Given the description of an element on the screen output the (x, y) to click on. 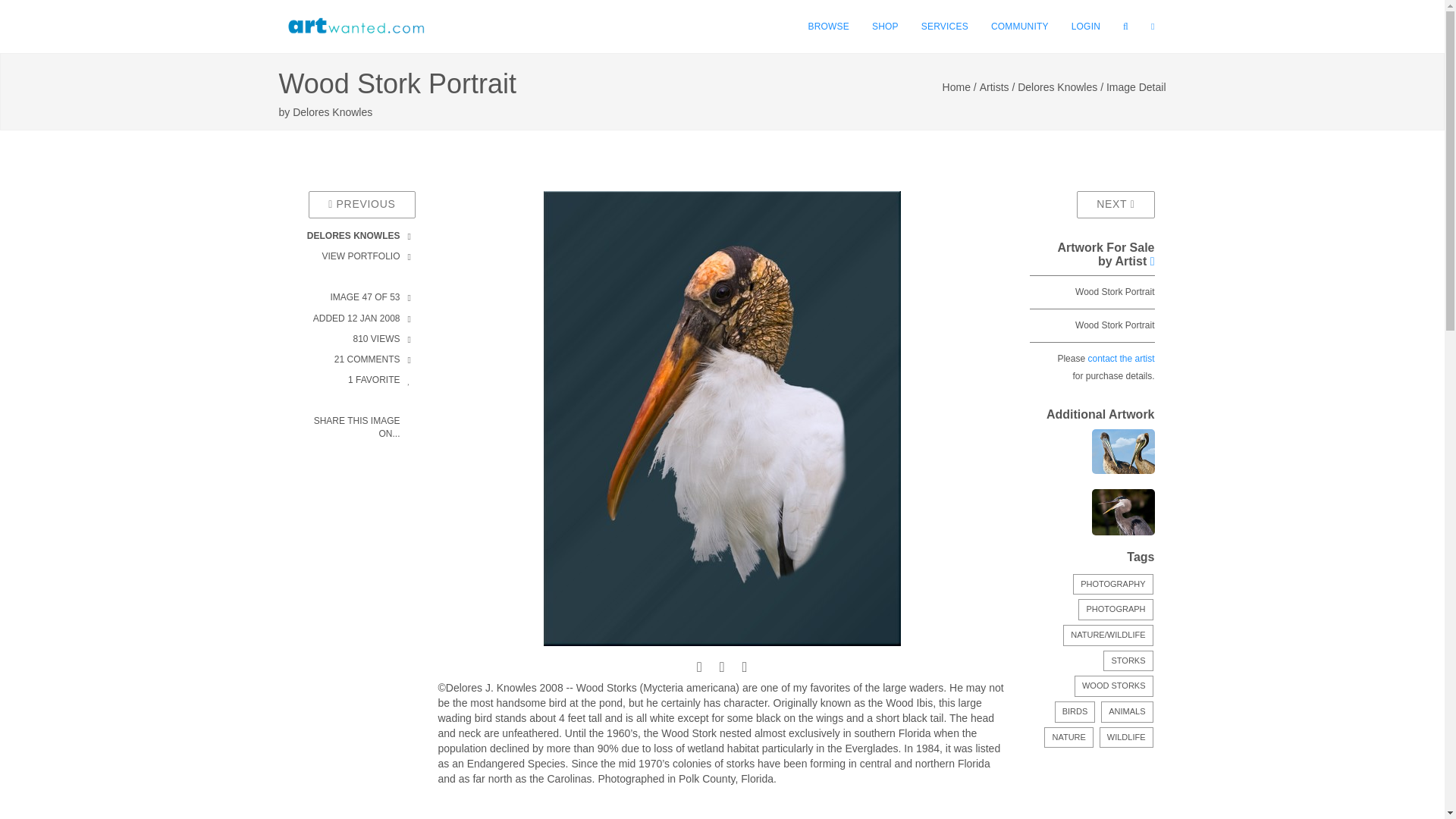
BROWSE (828, 26)
COMMUNITY (1019, 26)
SERVICES (944, 26)
LOGIN (1085, 26)
Delores Knowles (332, 111)
SHOP (885, 26)
